Given the description of an element on the screen output the (x, y) to click on. 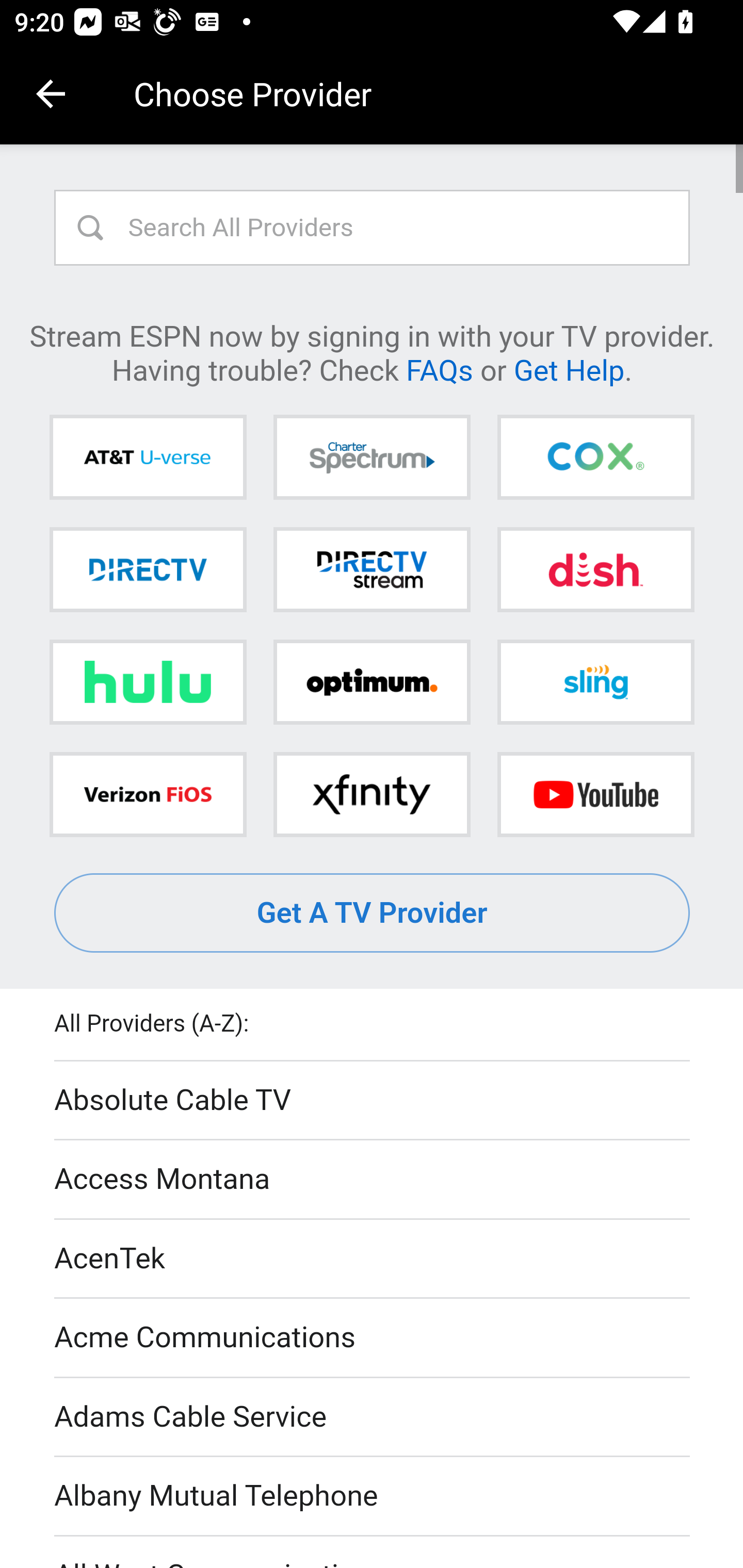
Navigate up (50, 93)
FAQs (438, 369)
Get Help (569, 369)
AT&T U-verse (147, 457)
Charter Spectrum (371, 457)
Cox (595, 457)
DIRECTV (147, 568)
DIRECTV STREAM (371, 568)
DISH (595, 568)
Hulu (147, 681)
Optimum (371, 681)
Sling TV (595, 681)
Verizon FiOS (147, 793)
Xfinity (371, 793)
YouTube TV (595, 793)
Get A TV Provider (372, 912)
Absolute Cable TV (372, 1100)
Access Montana (372, 1178)
AcenTek (372, 1258)
Acme Communications (372, 1338)
Adams Cable Service (372, 1417)
Albany Mutual Telephone (372, 1497)
